Given the description of an element on the screen output the (x, y) to click on. 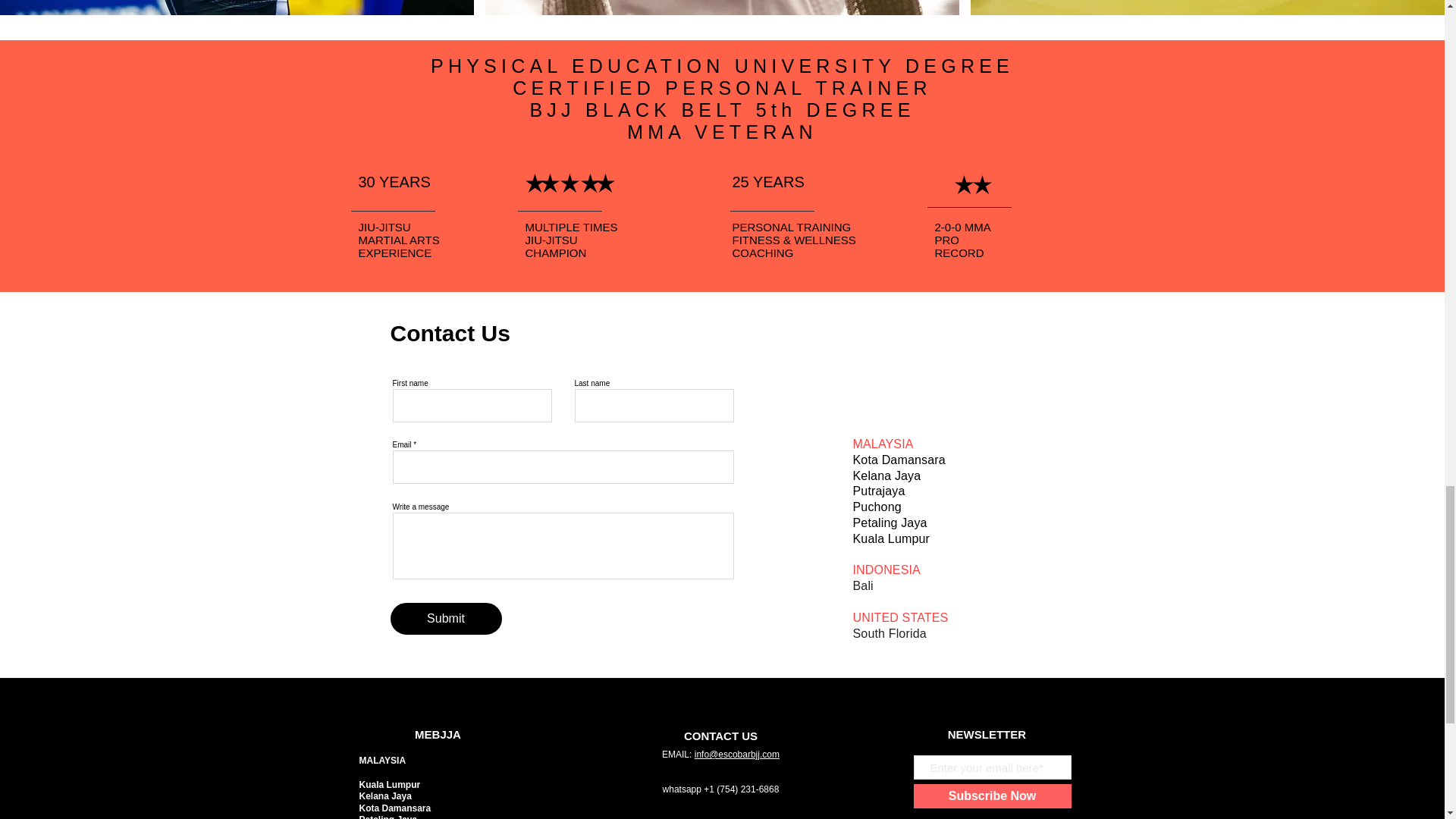
EMAIL: (678, 754)
Subscribe Now (991, 795)
CONTACT US (720, 735)
Submit (445, 618)
